Given the description of an element on the screen output the (x, y) to click on. 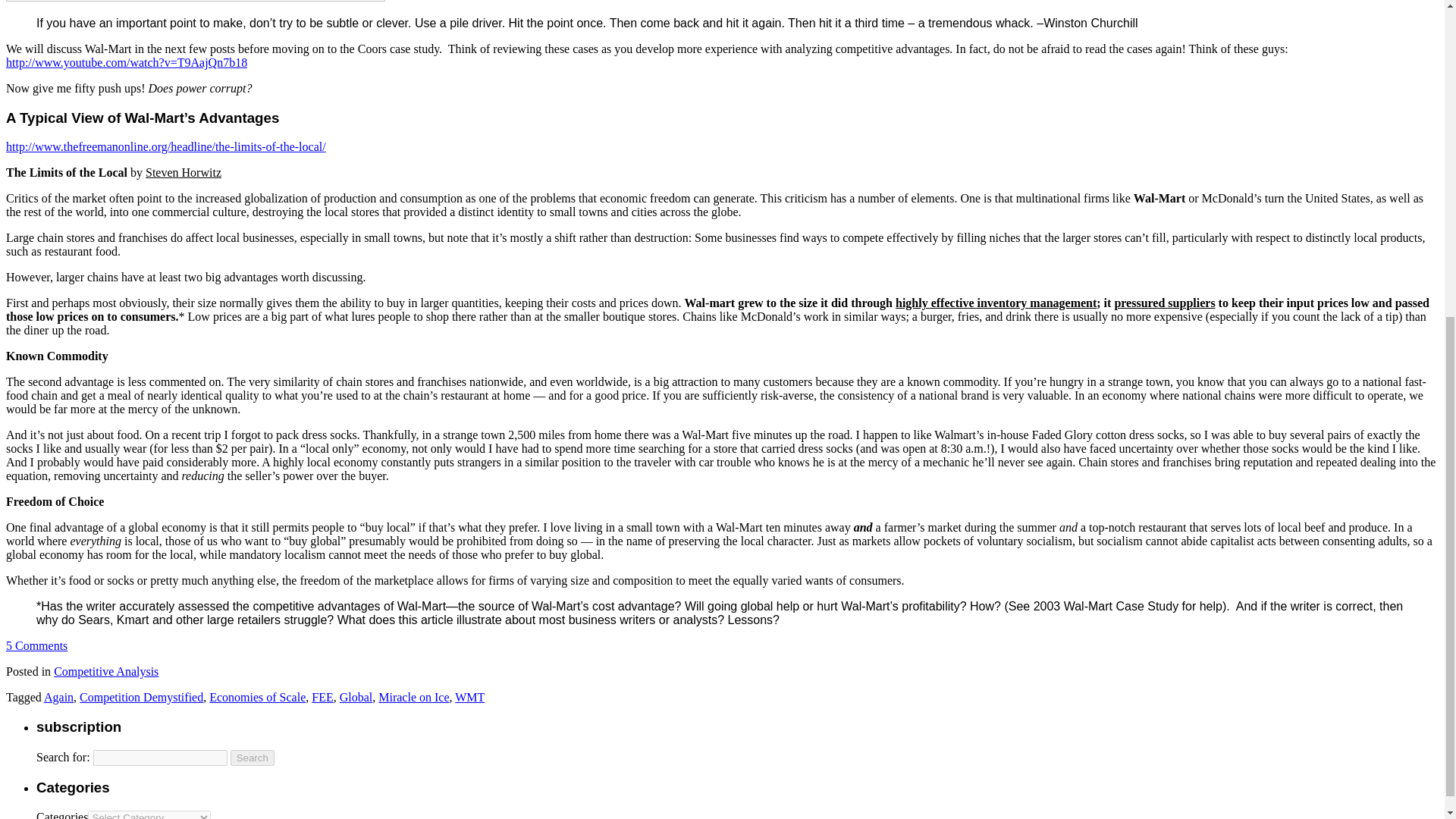
Again (58, 697)
FEE (322, 697)
Competition Demystified (141, 697)
Global (355, 697)
Search (252, 757)
Search (252, 757)
Miracle on Ice (413, 697)
Economies of Scale (257, 697)
WMT (469, 697)
5 Comments (35, 645)
Competitive Analysis (105, 671)
